Given the description of an element on the screen output the (x, y) to click on. 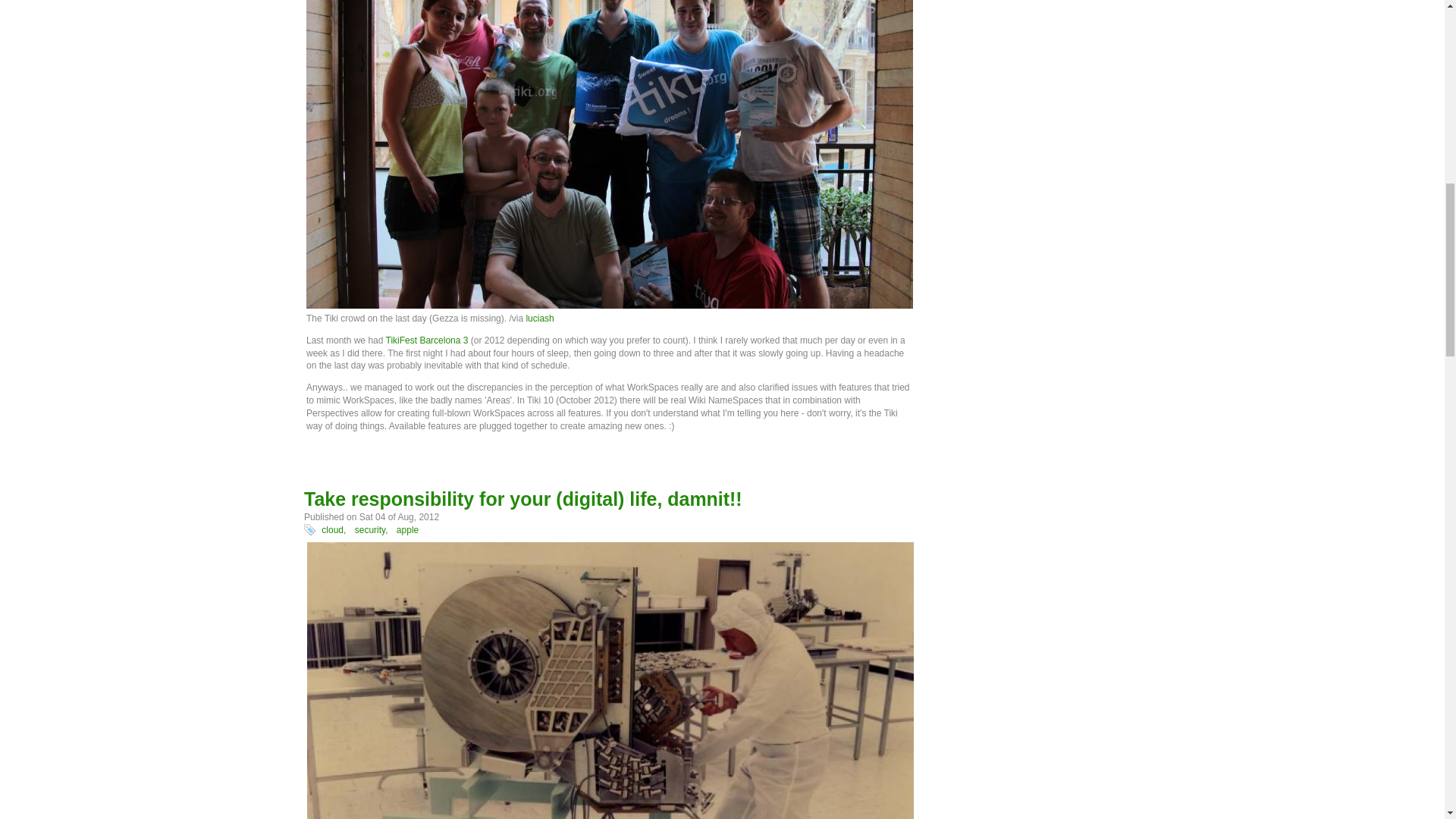
security, (371, 529)
luciash (539, 317)
Tags (309, 530)
TikiFest Barcelona 3 (426, 339)
apple (407, 529)
cloud, (333, 529)
